Given the description of an element on the screen output the (x, y) to click on. 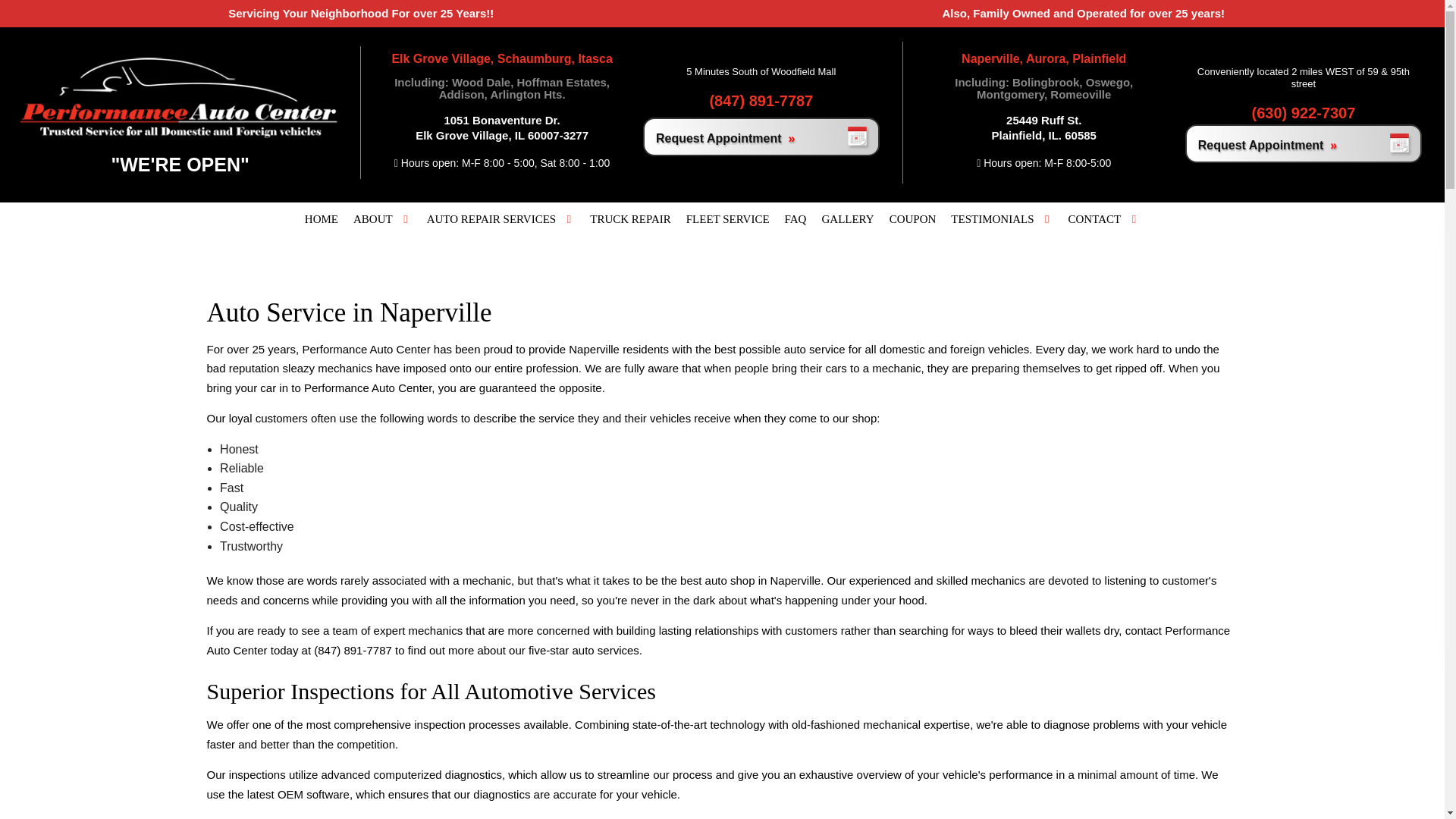
Request Appointment (761, 139)
View our Location (501, 127)
View our Location (1043, 127)
Request Appointment (1303, 151)
